Given the description of an element on the screen output the (x, y) to click on. 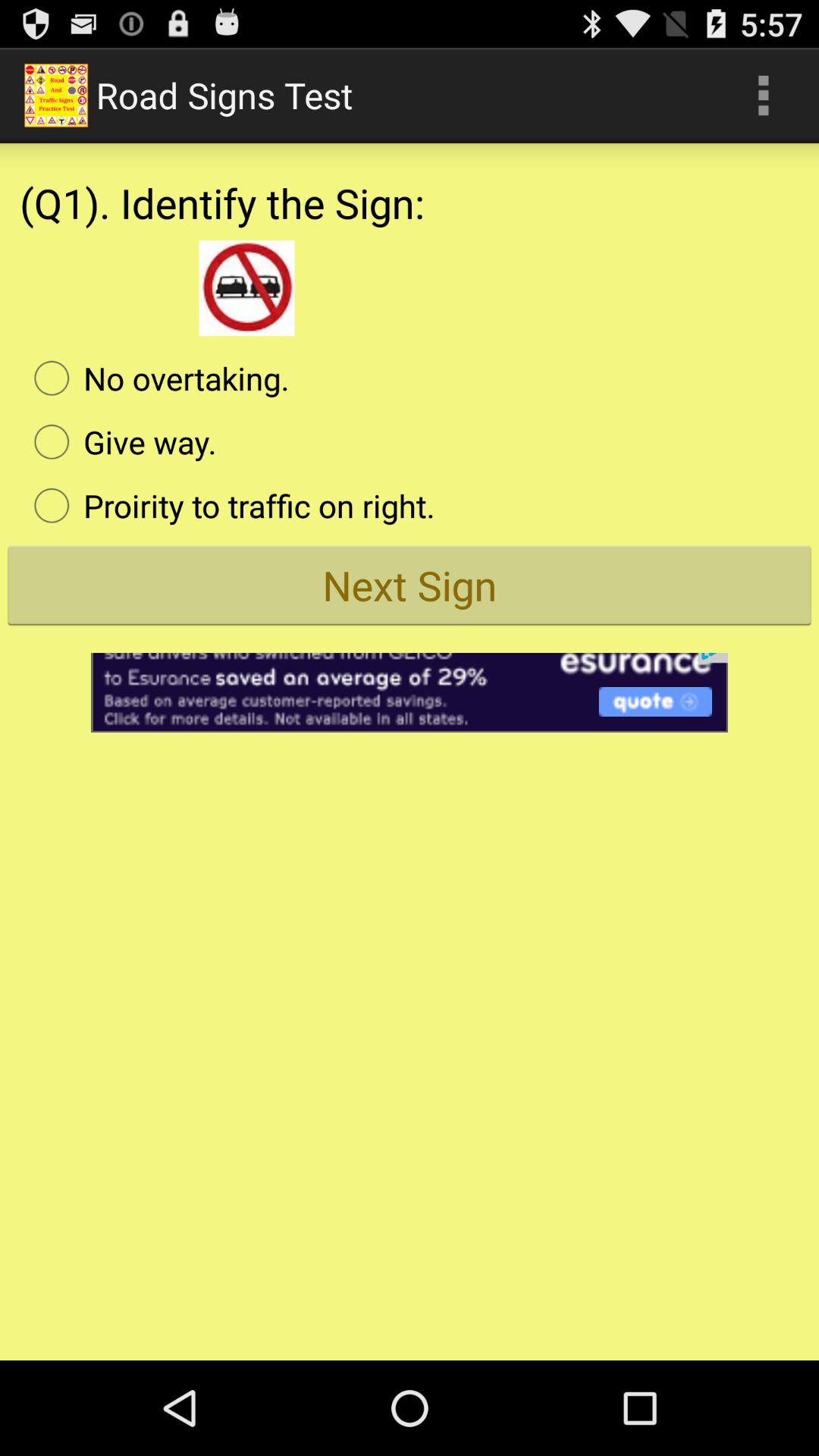
click the advertisement (409, 682)
